Given the description of an element on the screen output the (x, y) to click on. 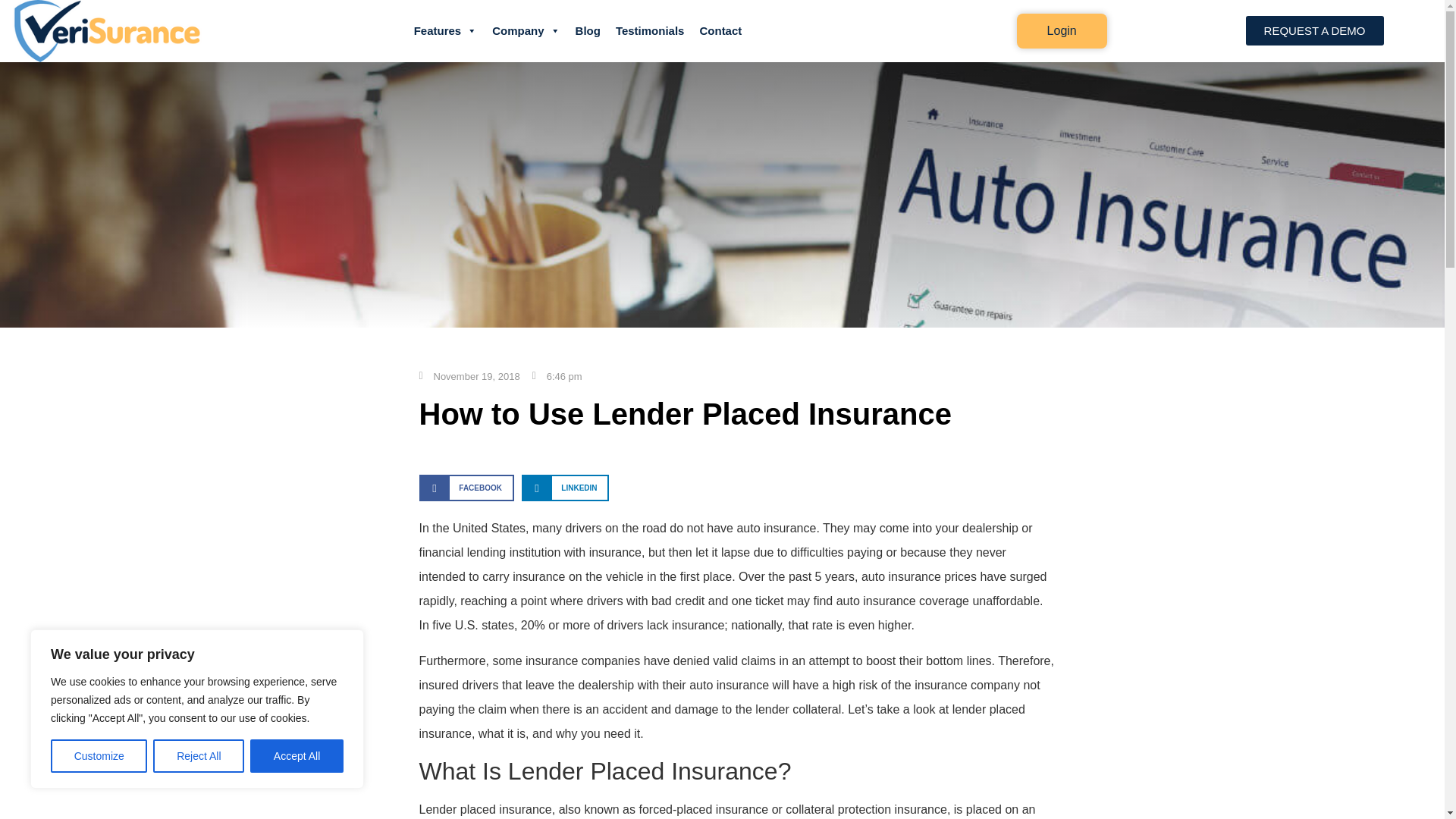
Login (1061, 30)
Accept All (296, 756)
Blog (587, 30)
Testimonials (650, 30)
Company (525, 30)
Features (445, 30)
Customize (98, 756)
Reject All (198, 756)
Contact (720, 30)
REQUEST A DEMO (1315, 30)
